Given the description of an element on the screen output the (x, y) to click on. 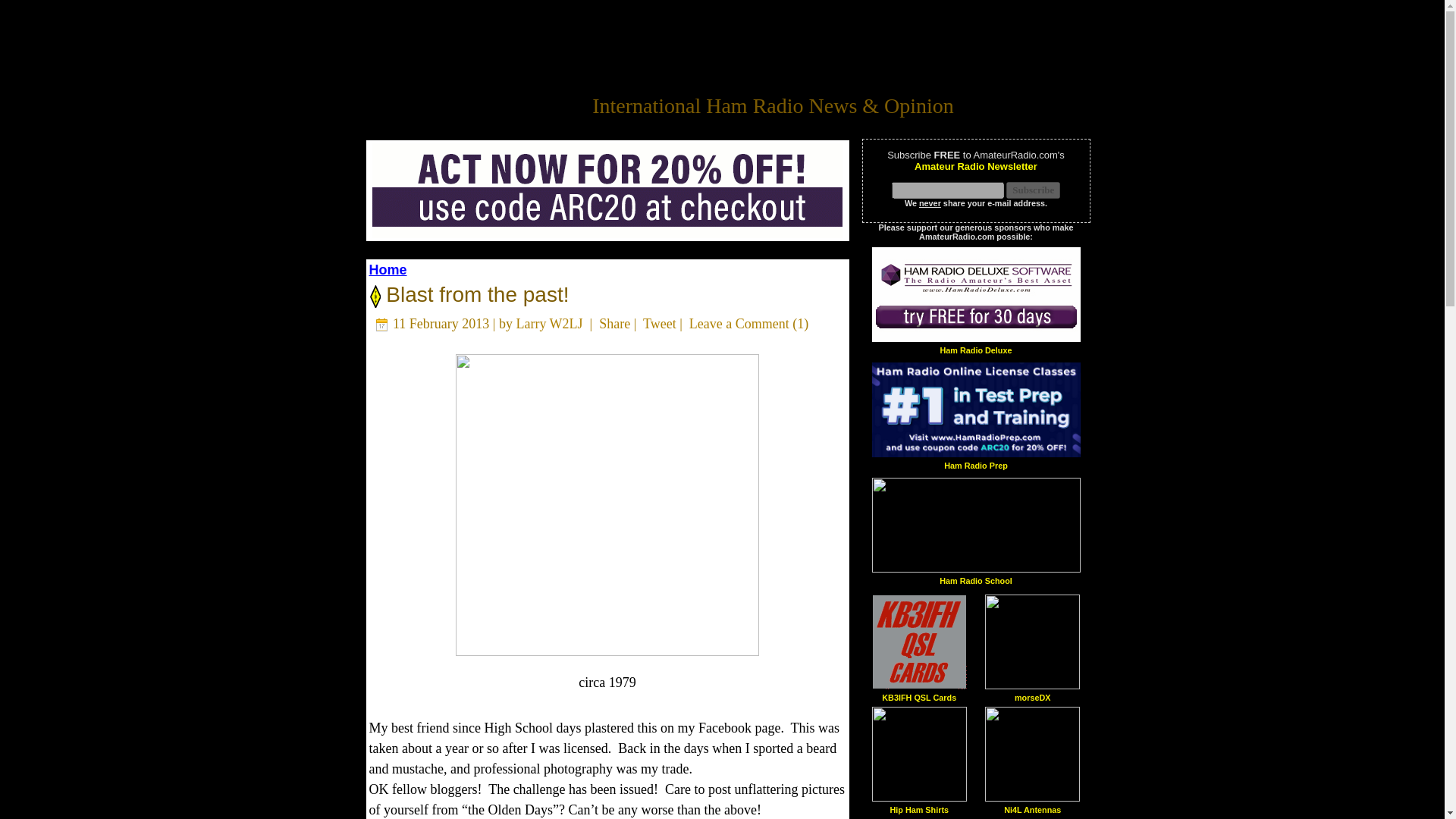
Blast from the past! (474, 294)
Tweet (660, 323)
Ham Radio School (975, 580)
Ham Radio Deluxe (975, 349)
Home (387, 269)
Ham Radio Prep (975, 464)
Subscribe (1032, 190)
Leave a Comment (738, 323)
Larry W2LJ (548, 323)
Blast from the past! (474, 294)
